Given the description of an element on the screen output the (x, y) to click on. 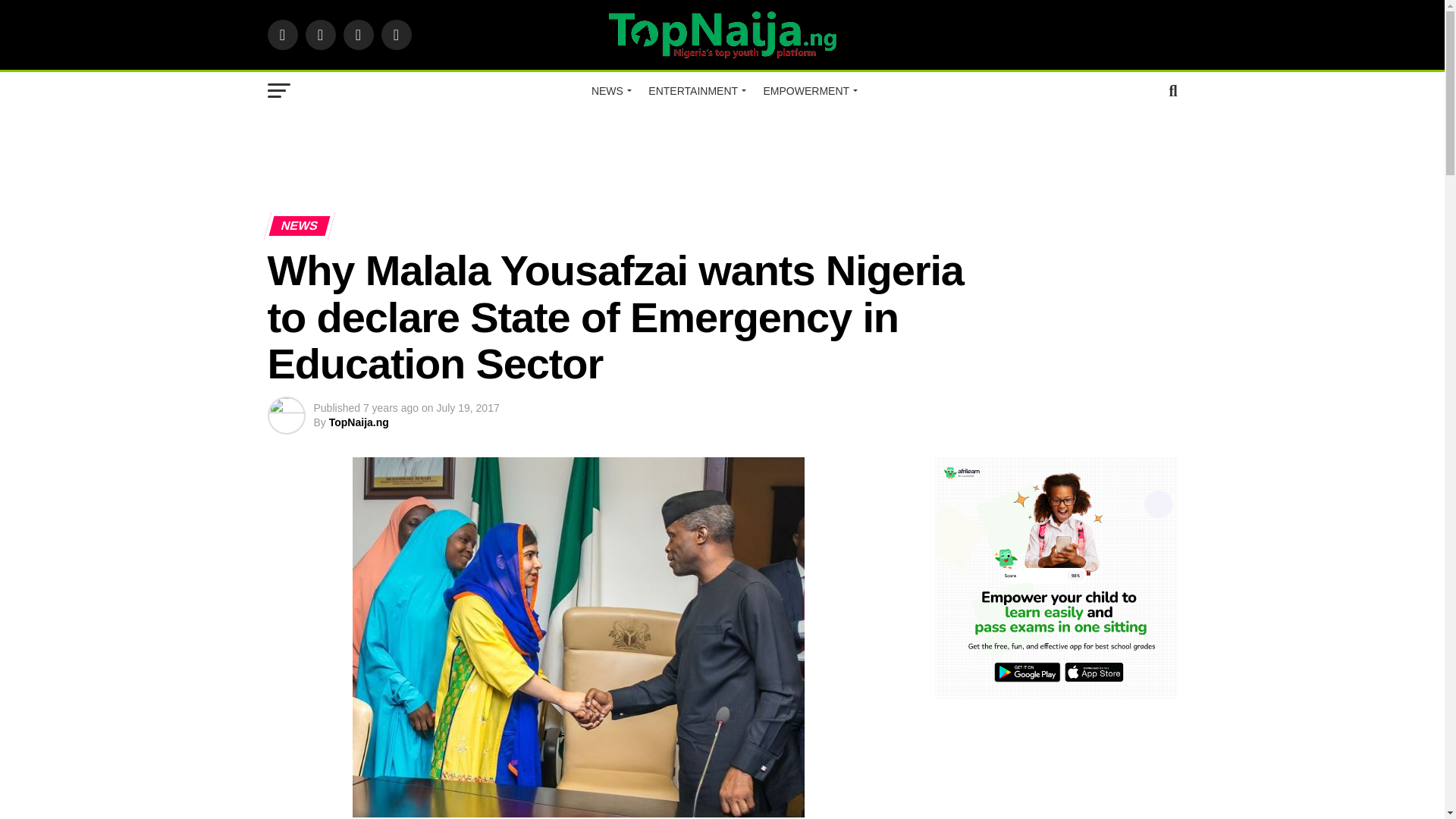
NEWS (609, 90)
TopNaija.ng (358, 422)
Advertisement (721, 156)
Posts by TopNaija.ng (358, 422)
ENTERTAINMENT (695, 90)
EMPOWERMENT (808, 90)
